Given the description of an element on the screen output the (x, y) to click on. 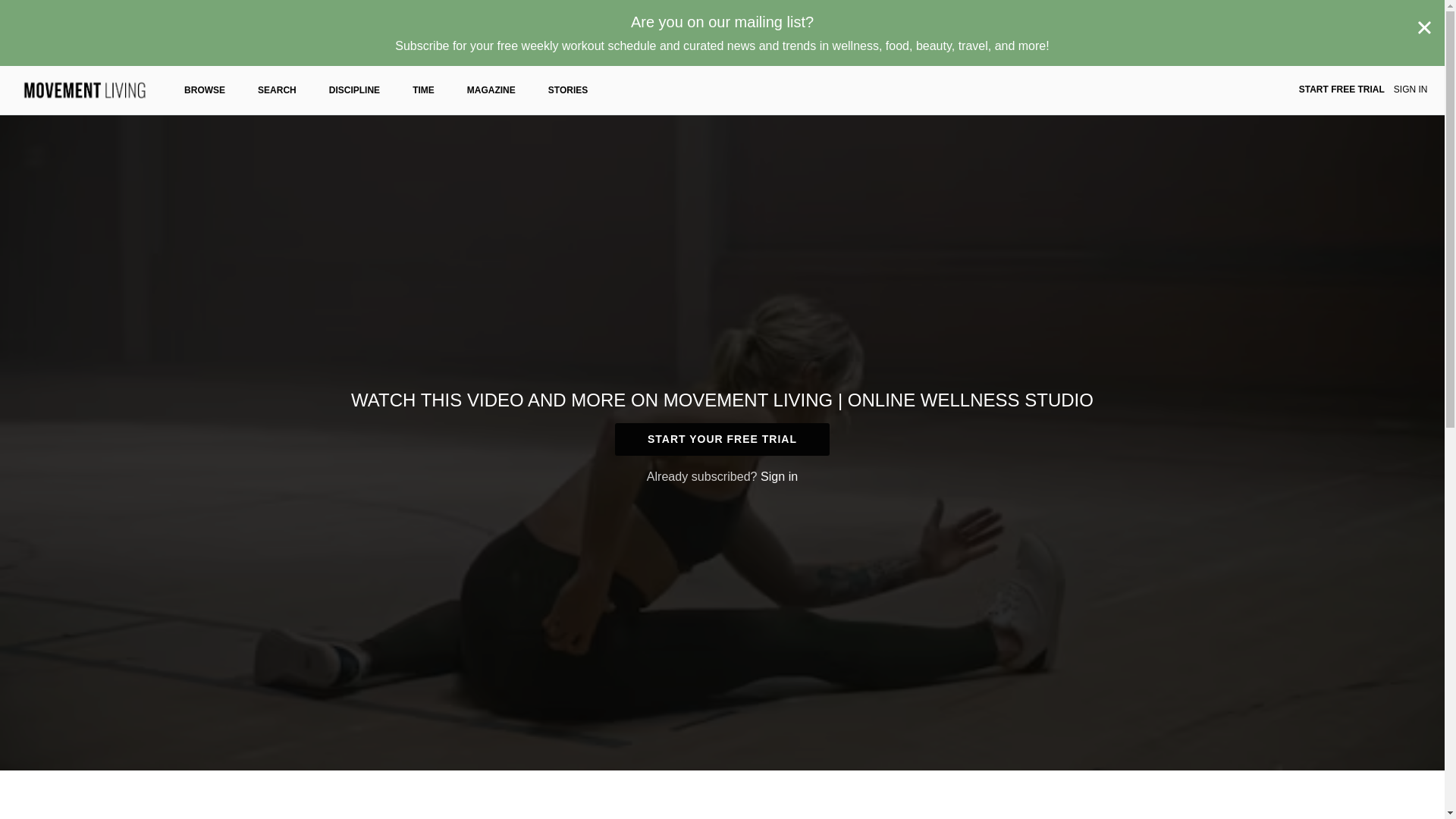
START YOUR FREE TRIAL (721, 439)
SIGN IN (1410, 90)
START FREE TRIAL (1341, 90)
Skip to main content (48, 7)
TIME (422, 90)
Sign in (778, 476)
BROWSE (204, 90)
DISCIPLINE (354, 90)
SEARCH (277, 90)
STORIES (568, 90)
